Given the description of an element on the screen output the (x, y) to click on. 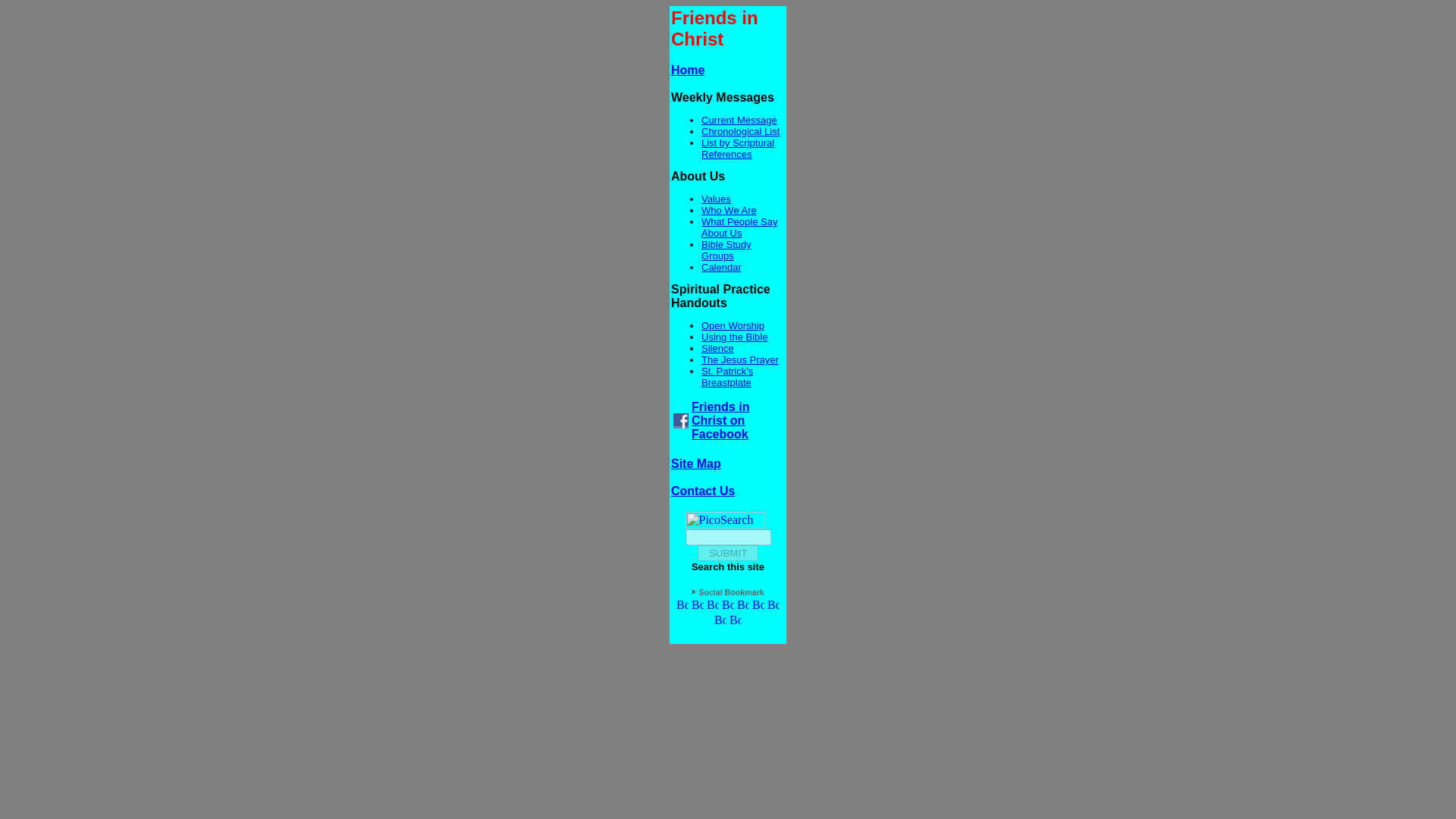
Bookmark to: Digg (735, 621)
Bookmark to: Google (712, 605)
Who We Are (729, 210)
Bookmark to: Myspace (727, 605)
The Jesus Prayer (739, 359)
What People Say About Us (739, 227)
Site Map (695, 463)
Social Bookmark (730, 592)
Bookmark to: Facebook (682, 605)
  SUBMIT   (727, 553)
Friends in Christ on Facebook (720, 420)
Bookmark to: Del.icio.us (742, 605)
Contact Us (703, 490)
Bookmark to: Reddit (720, 621)
Bible Study Groups (726, 250)
